Given the description of an element on the screen output the (x, y) to click on. 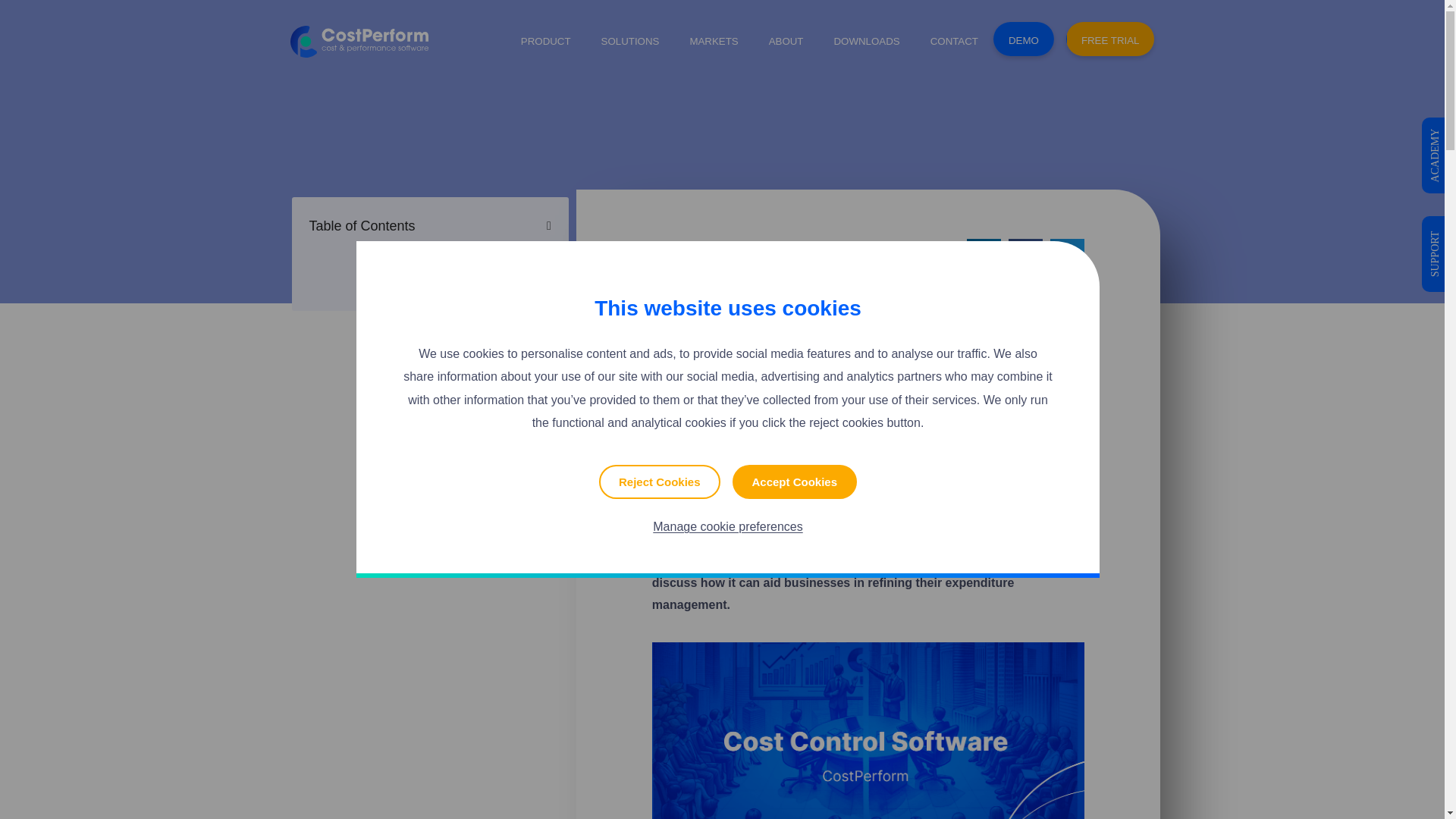
Reject Cookies (659, 481)
Manage cookie preferences (727, 526)
Accept Cookies (794, 481)
